Given the description of an element on the screen output the (x, y) to click on. 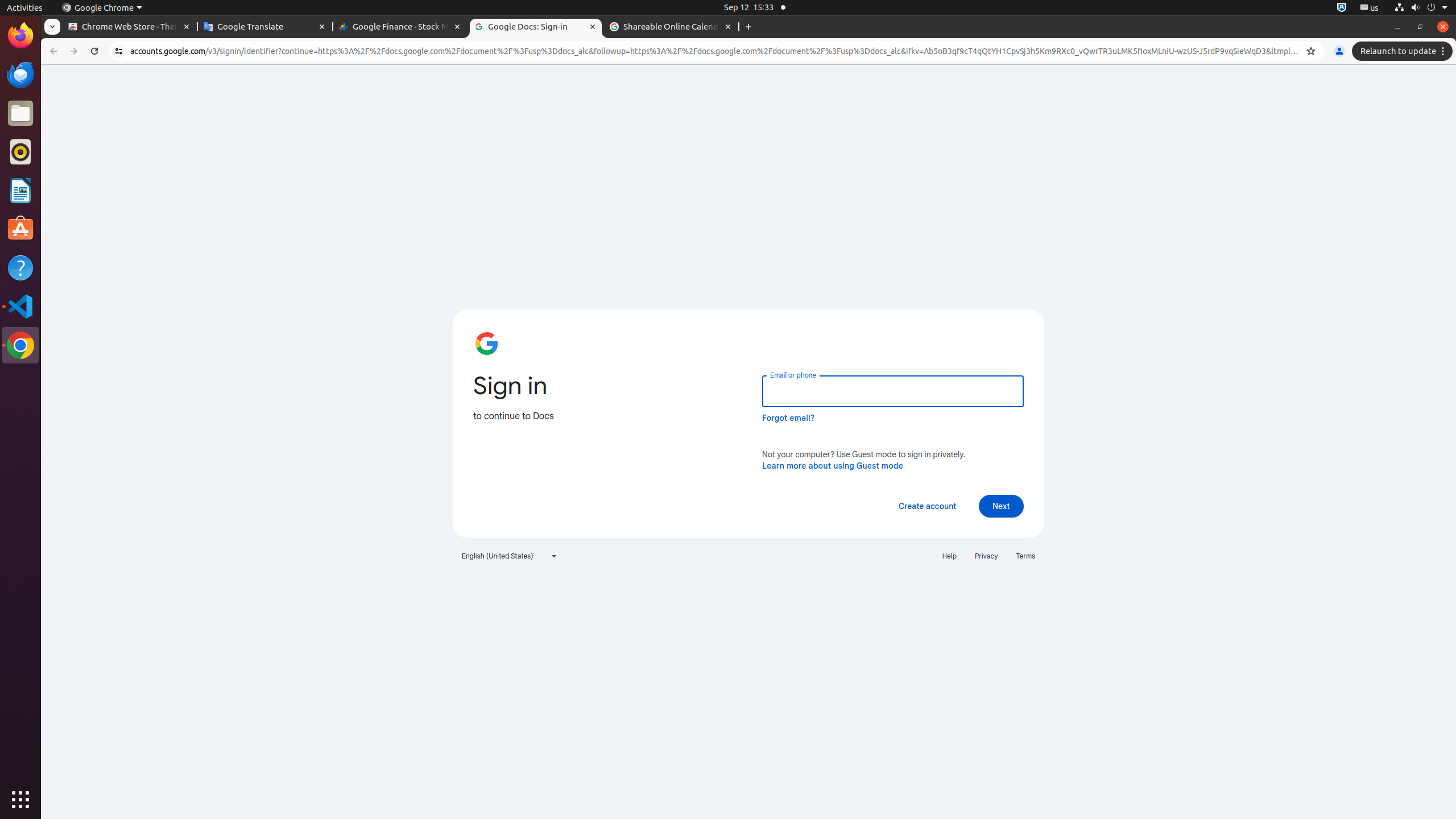
View site information Element type: push-button (118, 51)
:1.72/StatusNotifierItem Element type: menu (1341, 7)
Reload Element type: push-button (94, 50)
Next Element type: push-button (1000, 505)
Ubuntu Software Element type: push-button (20, 229)
